Given the description of an element on the screen output the (x, y) to click on. 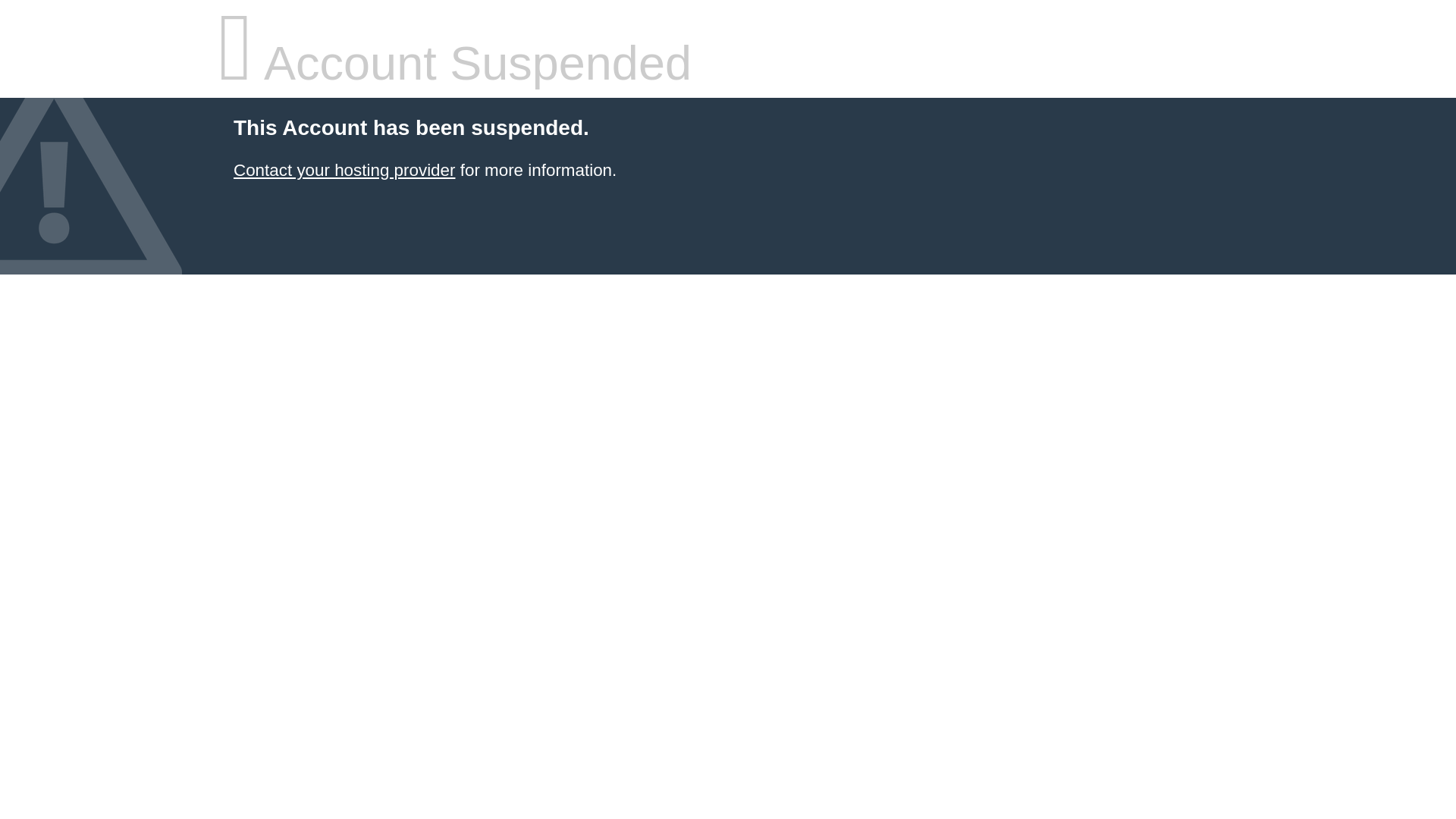
Contact your hosting provider (343, 169)
